Given the description of an element on the screen output the (x, y) to click on. 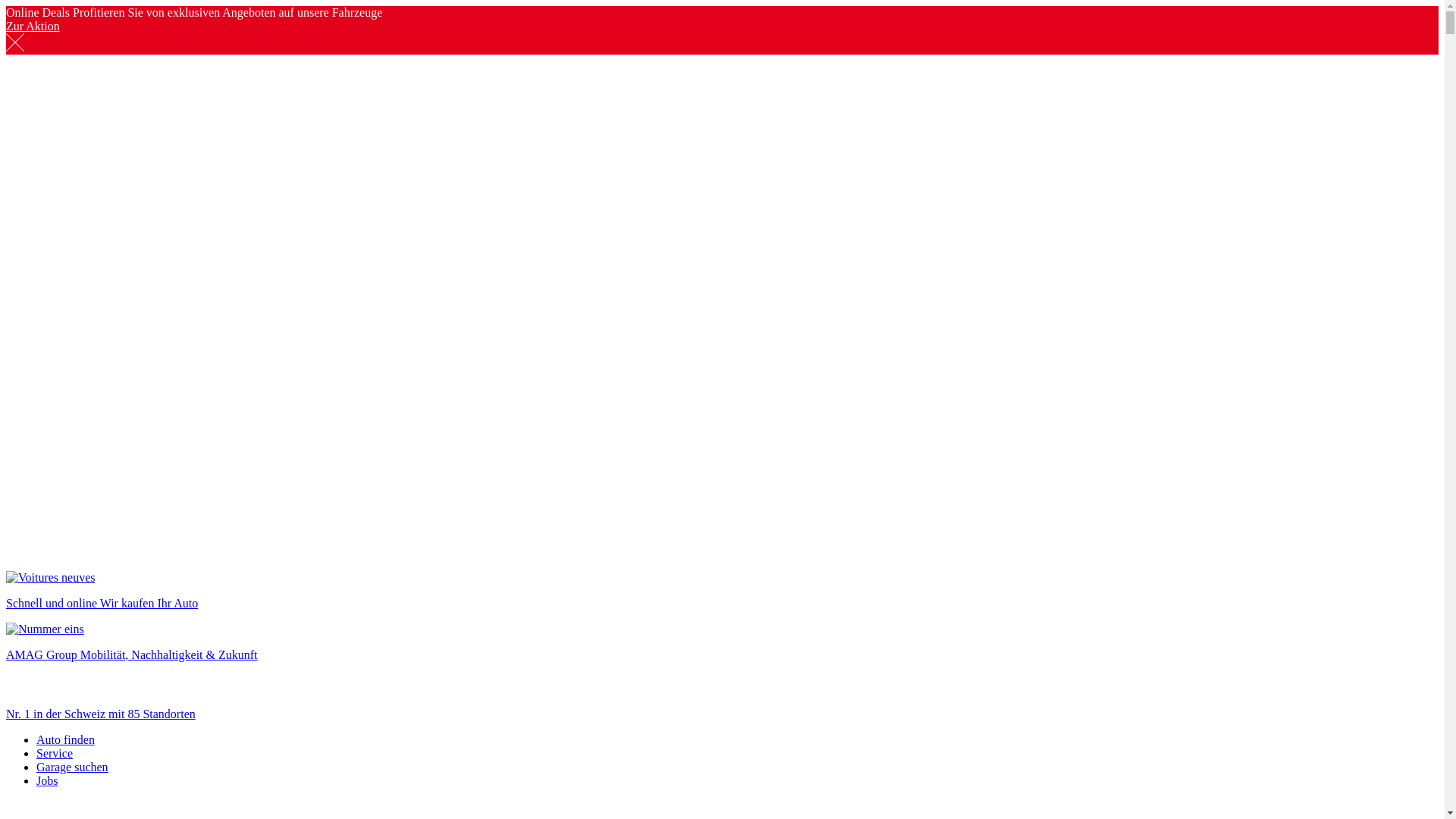
Schnell und online Wir kaufen Ihr Auto Element type: text (722, 590)
Garage suchen Element type: text (72, 766)
Auto finden Element type: text (65, 739)
Zur Aktion Element type: text (32, 25)
Nr. 1 in der Schweiz mit 85 Standorten Element type: text (722, 701)
Jobs Element type: text (46, 780)
Service Element type: text (54, 752)
